Given the description of an element on the screen output the (x, y) to click on. 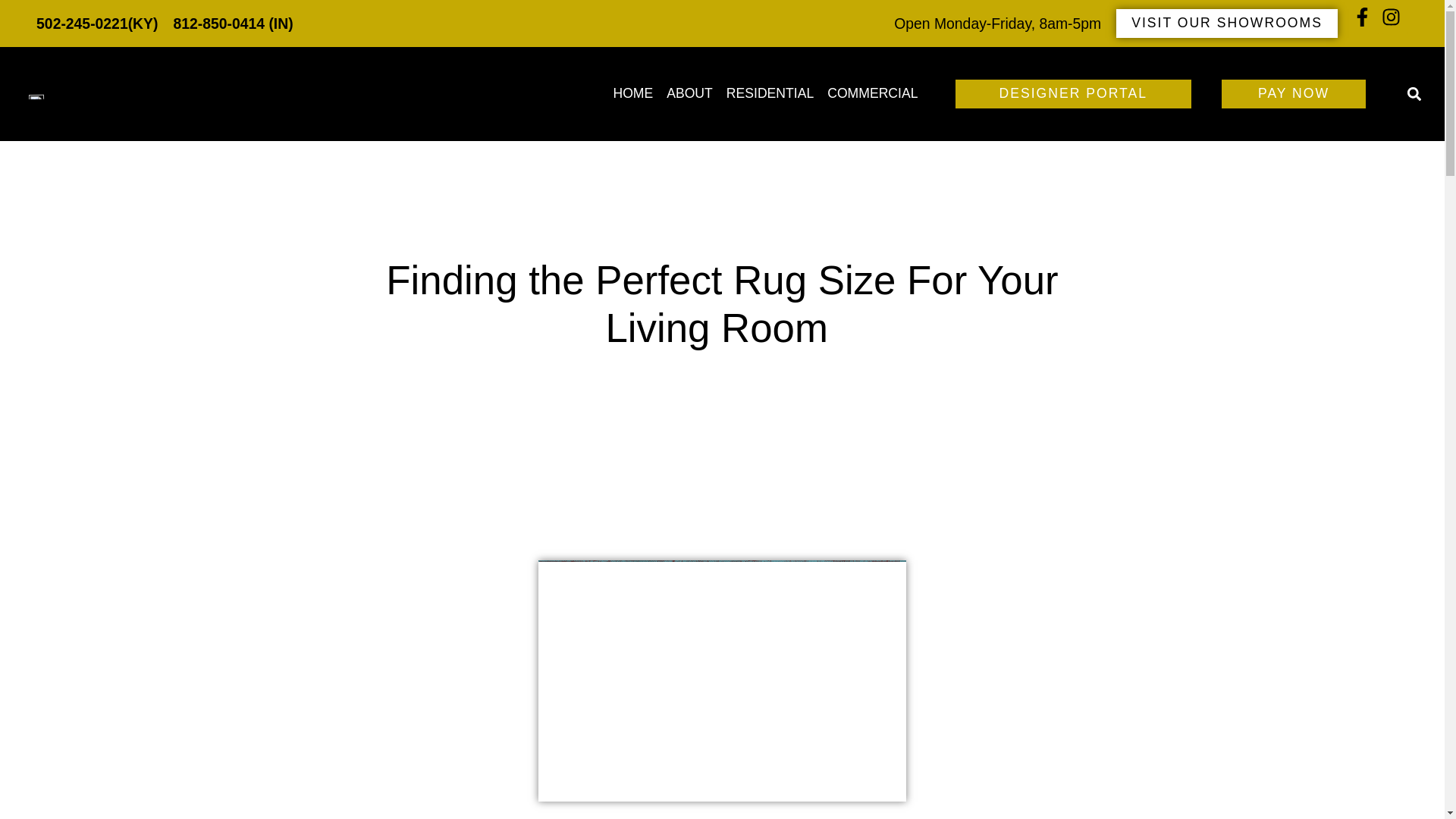
COMMERCIAL (872, 93)
ABOUT (689, 93)
PAY NOW (1293, 93)
VISIT OUR SHOWROOMS (1227, 23)
DESIGNER PORTAL (1073, 93)
RESIDENTIAL (770, 93)
HOME (632, 93)
